Given the description of an element on the screen output the (x, y) to click on. 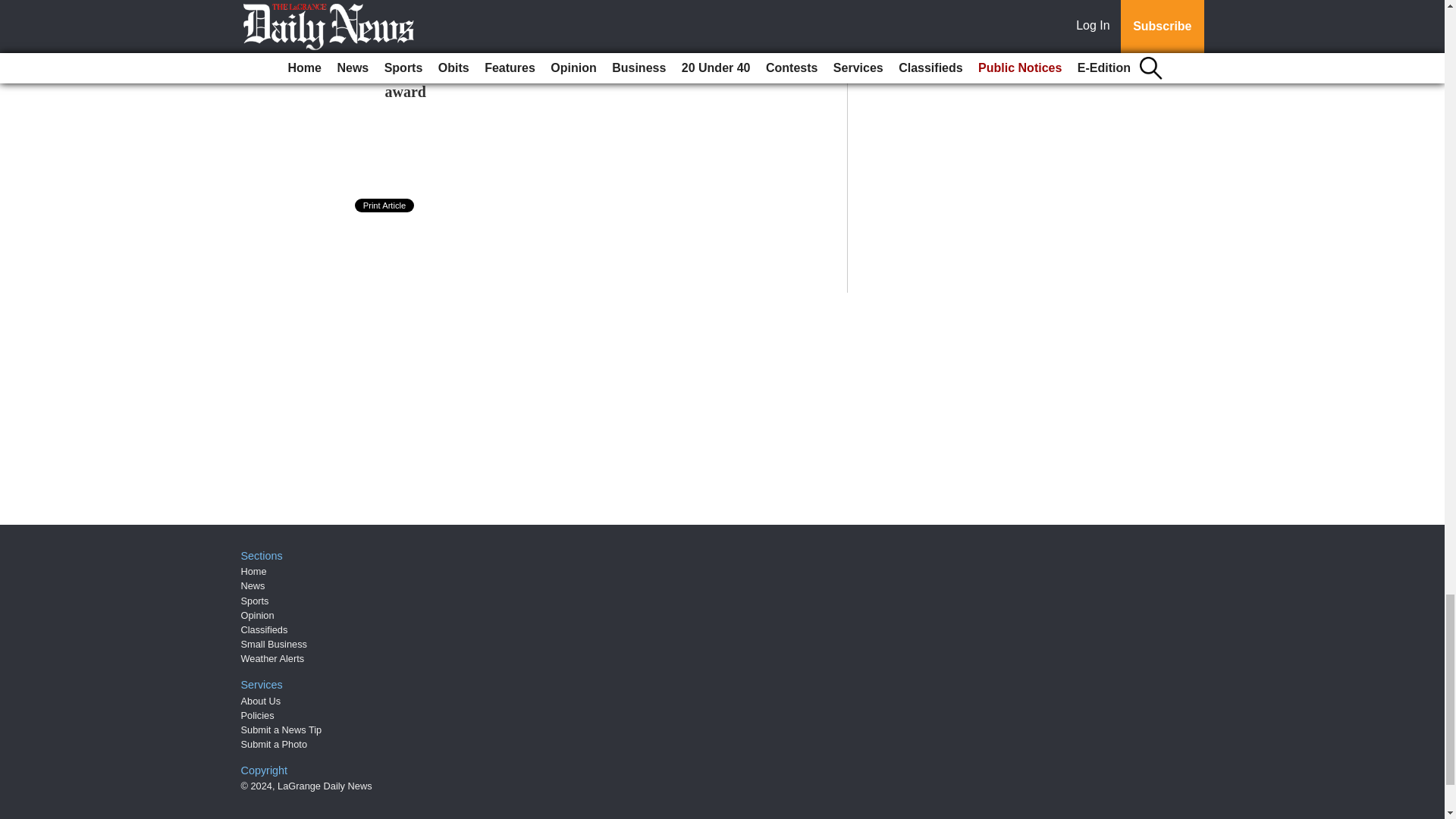
Williams earns July Strongest Link award (499, 82)
Print Article (384, 205)
Williams earns July Strongest Link award (499, 82)
